Given the description of an element on the screen output the (x, y) to click on. 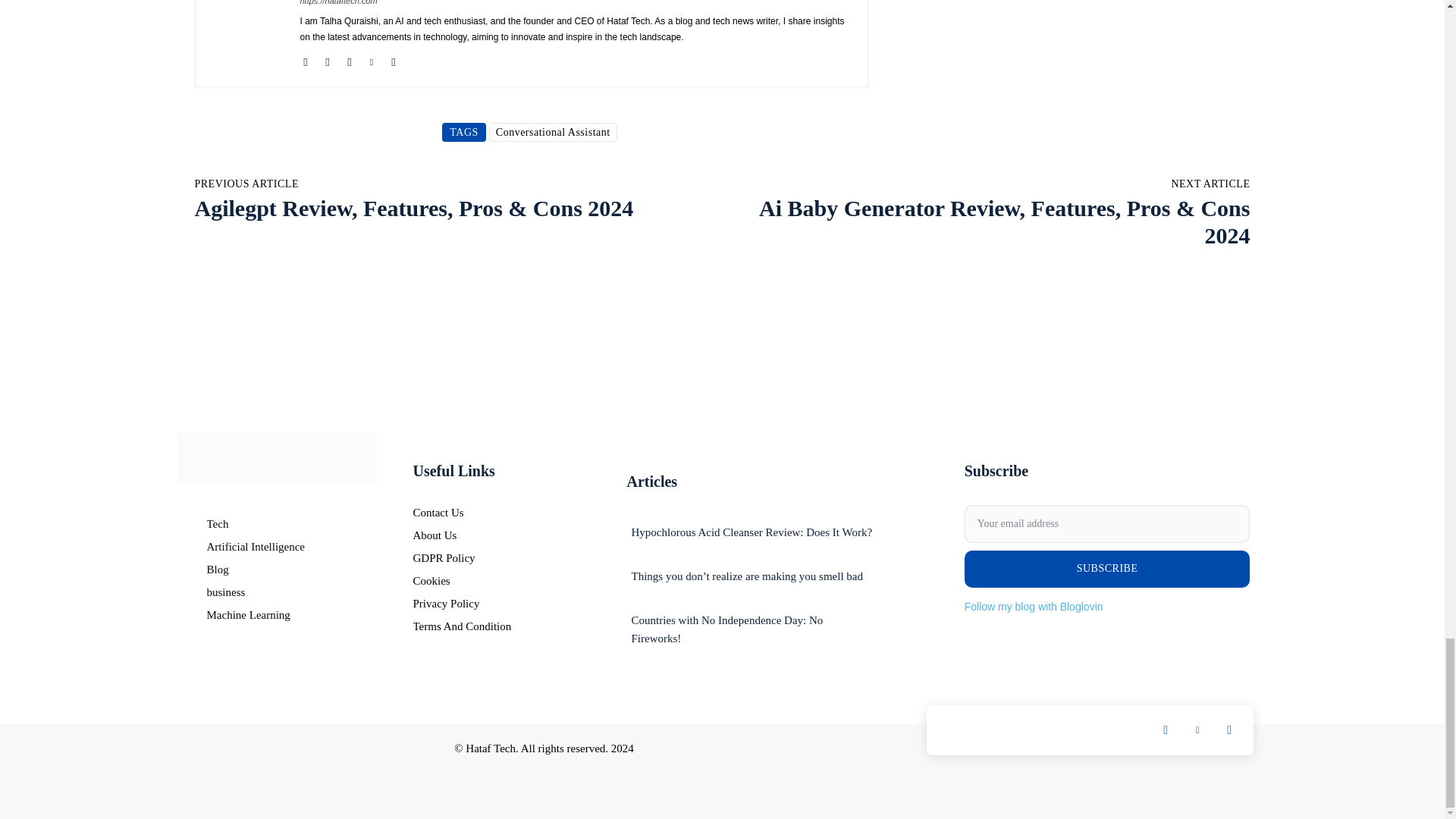
GitHub (305, 59)
Twitter (371, 59)
Conversational Assistant (553, 131)
Talha Quraishi (247, 35)
Medium (327, 59)
Website (393, 59)
RSS (349, 59)
